Given the description of an element on the screen output the (x, y) to click on. 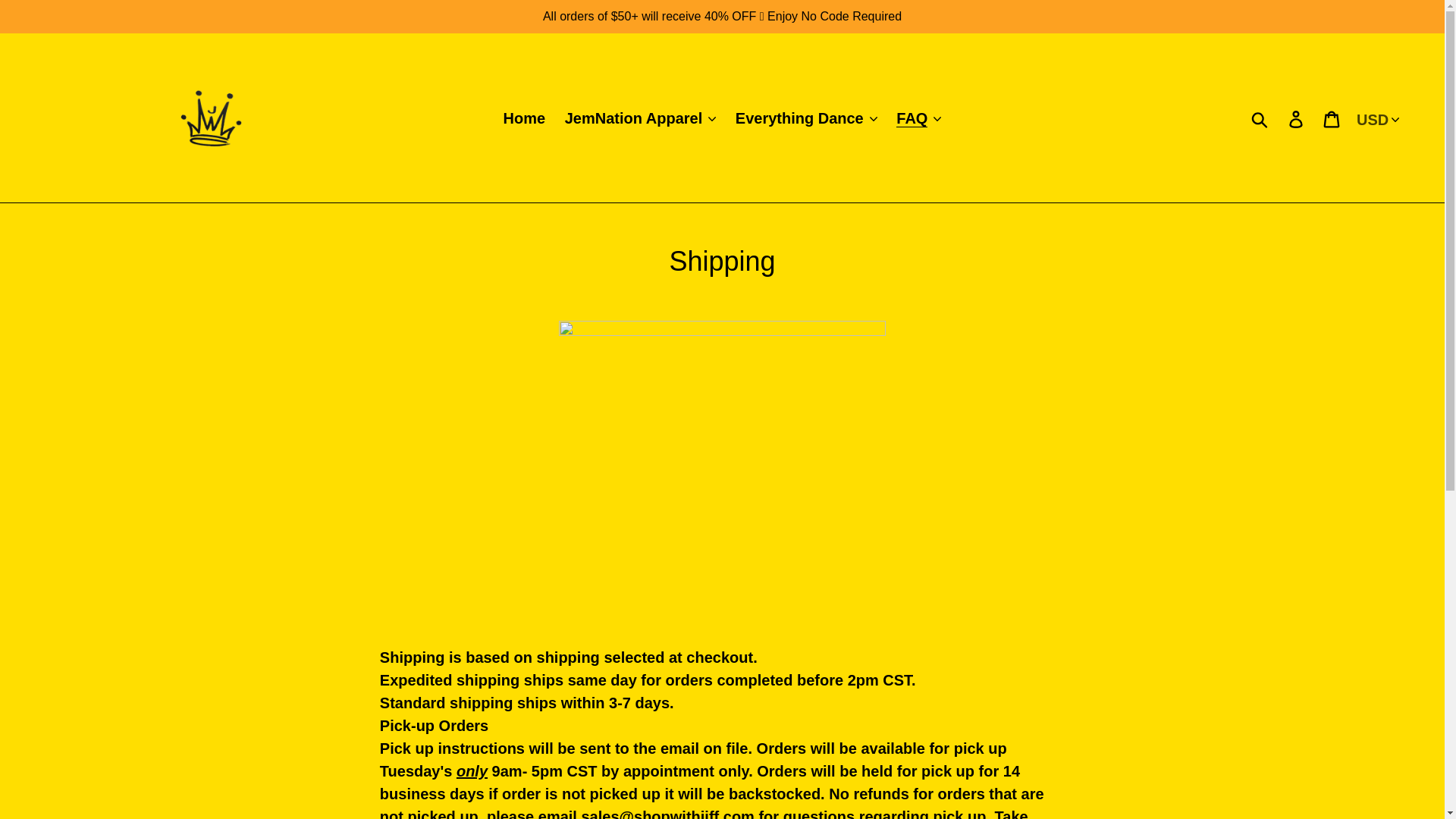
Home (524, 117)
Submit (1260, 117)
